Given the description of an element on the screen output the (x, y) to click on. 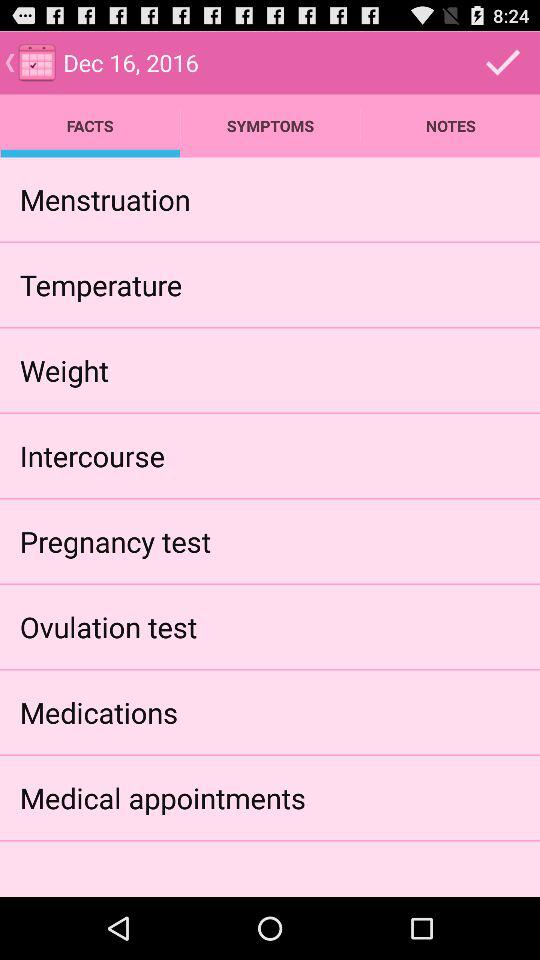
turn off icon above medical appointments app (98, 712)
